Given the description of an element on the screen output the (x, y) to click on. 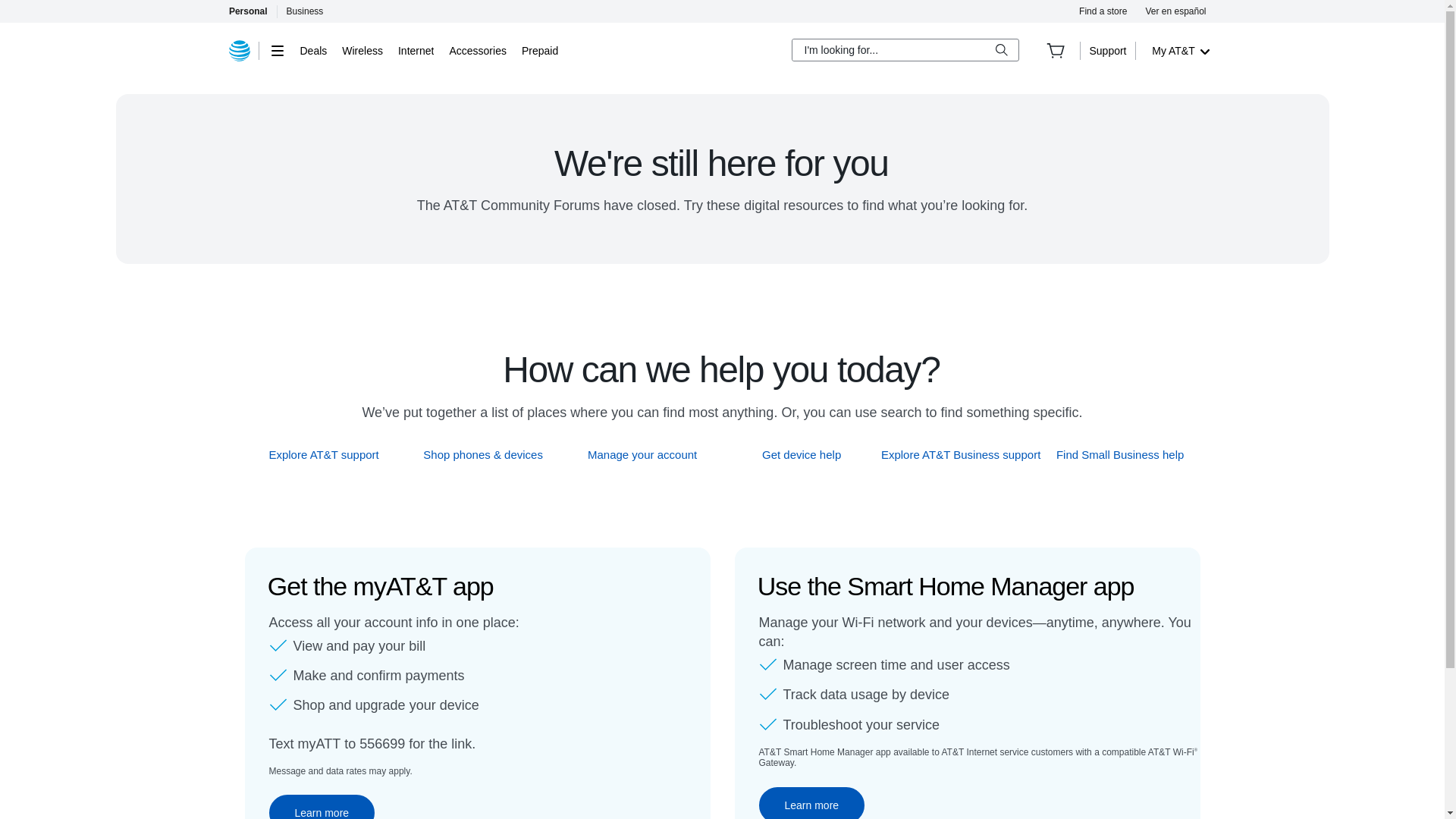
Business (305, 10)
Learn more (320, 806)
Find Small Business help (1121, 454)
Wireless (362, 50)
Get device help (801, 454)
Prepaid (539, 50)
Support (1107, 50)
Find a store (1102, 10)
Manage your account (642, 454)
Support (1107, 50)
